Given the description of an element on the screen output the (x, y) to click on. 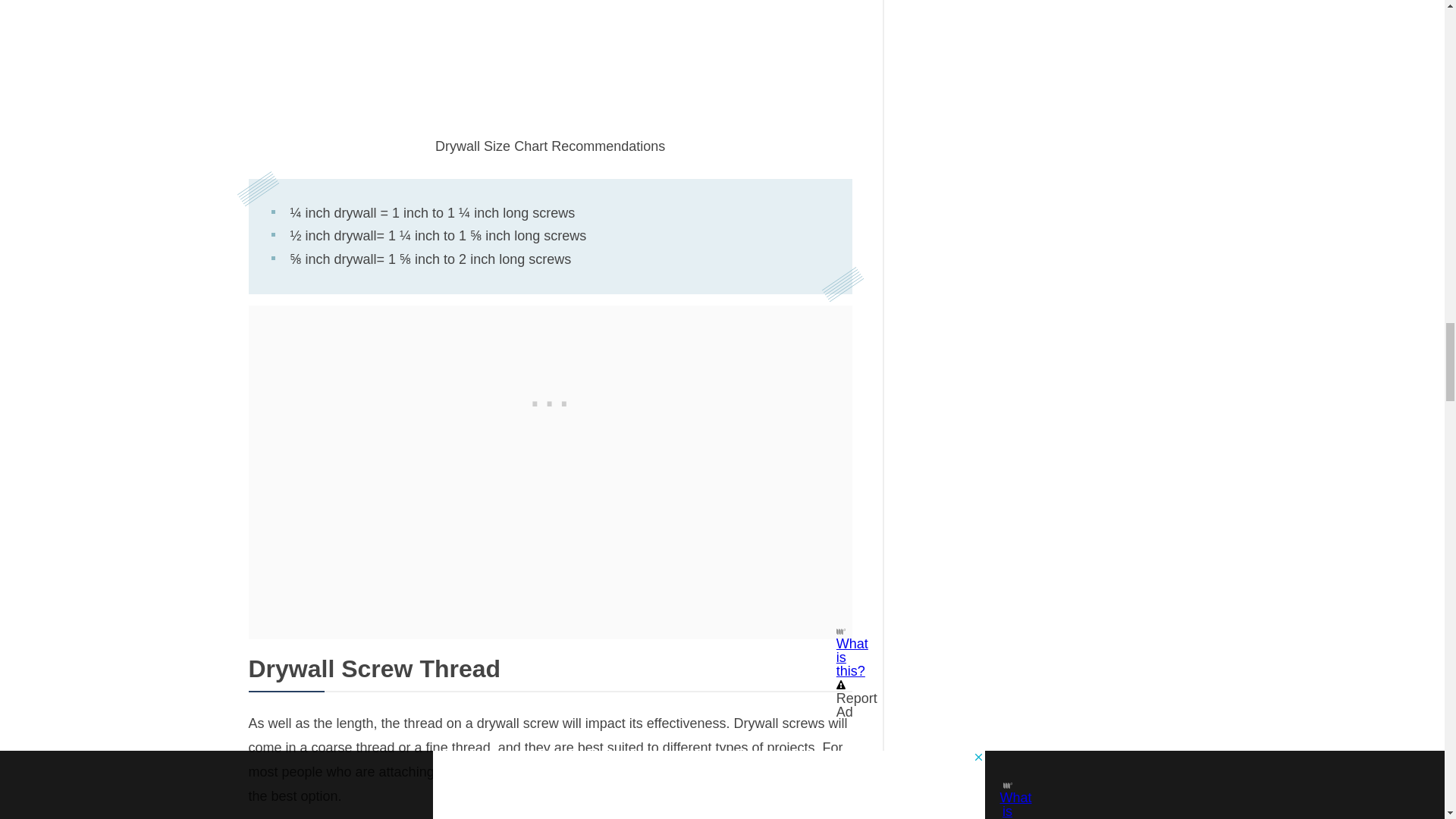
3rd party ad content (549, 400)
